Given the description of an element on the screen output the (x, y) to click on. 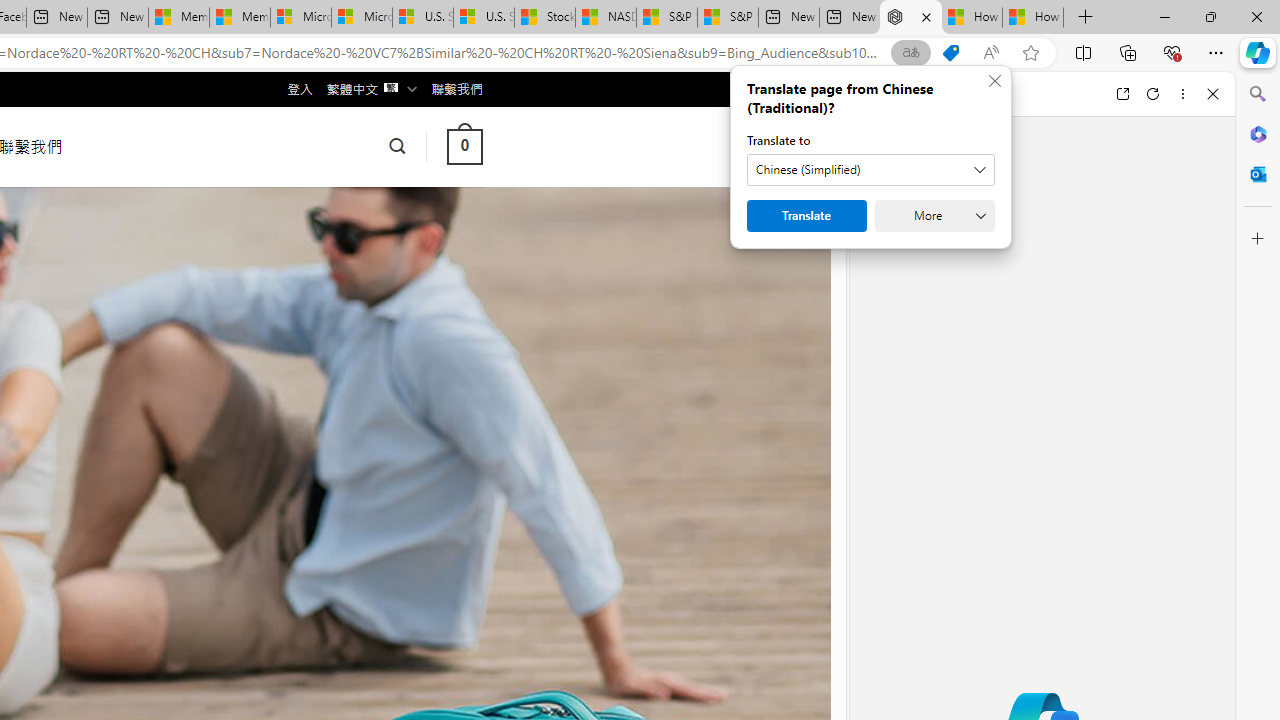
Outlook (1258, 174)
  0   (464, 146)
How to Use a Monitor With Your Closed Laptop (1033, 17)
More (934, 215)
Translate to (870, 169)
